Given the description of an element on the screen output the (x, y) to click on. 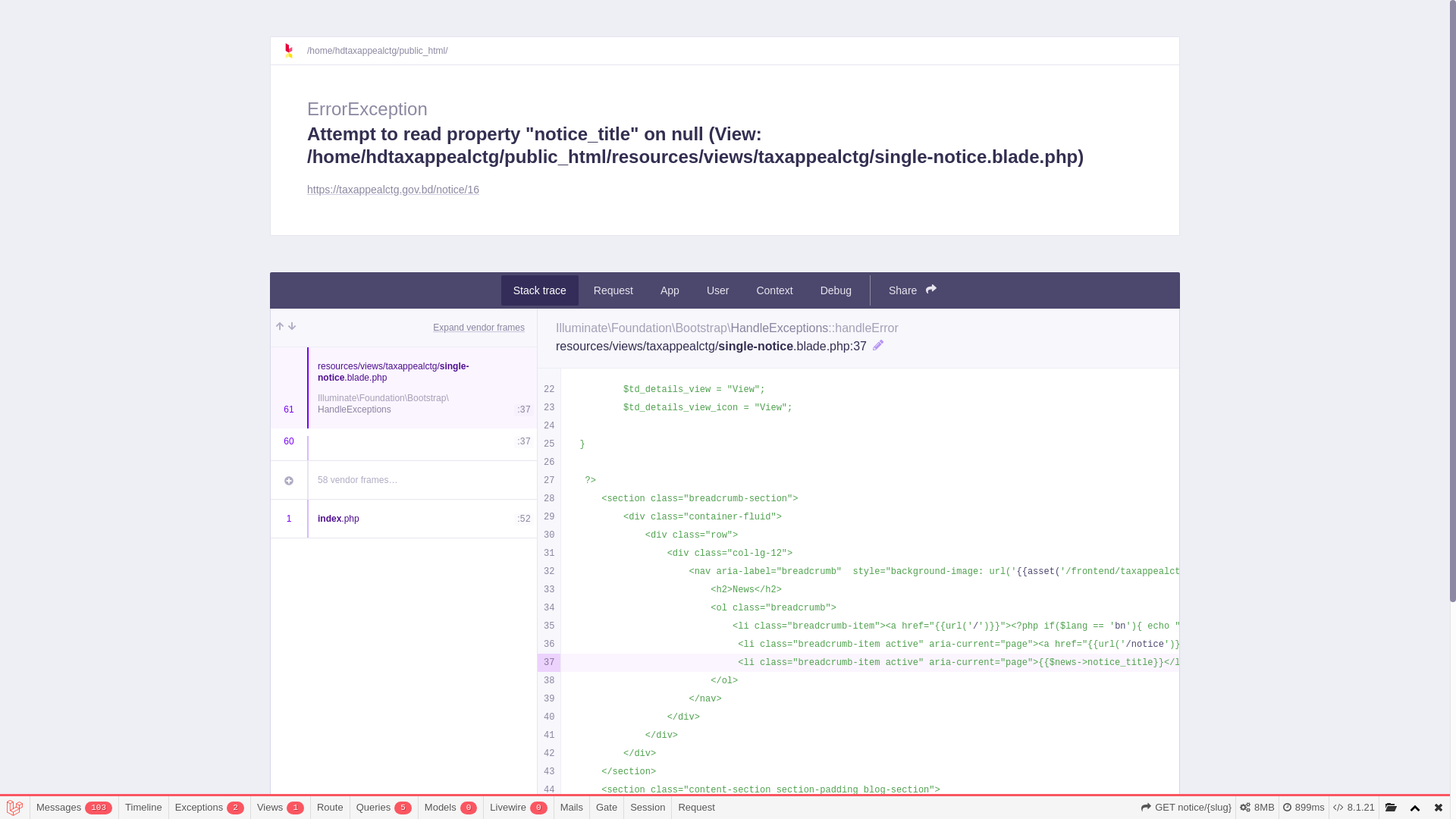
Frame up (Key:K) Element type: hover (279, 327)
Debug Element type: text (835, 290)
https://taxappealctg.gov.bd/notice/16 Element type: text (393, 190)
Share Element type: text (912, 290)
Ignition docs Element type: hover (294, 50)
Context Element type: text (773, 290)
User Element type: text (717, 290)
App Element type: text (669, 290)
Frame down (Key:J) Element type: hover (291, 327)
Request Element type: text (613, 290)
Stack trace Element type: text (539, 290)
Expand vendor frames Element type: text (478, 327)
